Given the description of an element on the screen output the (x, y) to click on. 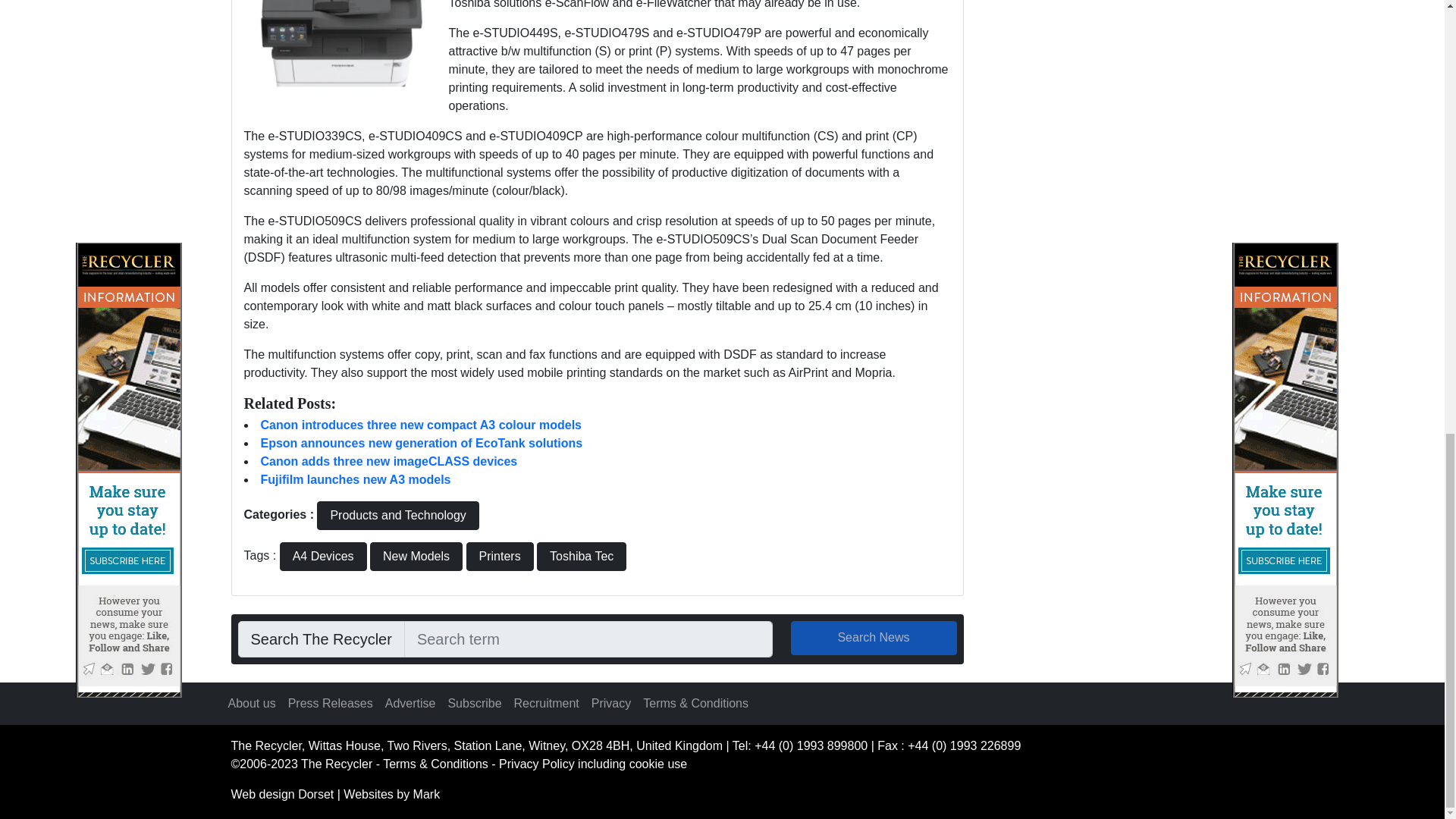
A4 Devices Tag (322, 556)
Printers (498, 556)
Canon introduces three new compact A3 colour models (420, 424)
Toshiba Tec (581, 556)
Search News (873, 637)
Canon adds three new imageCLASS devices (389, 461)
New Models (416, 556)
Fujifilm launches new A3 models (355, 479)
Epson announces new generation of EcoTank solutions (421, 442)
New Models Tag (416, 556)
A4 Devices (322, 556)
Epson announces new generation of EcoTank solutions (421, 442)
Search News (873, 637)
Search for: (588, 638)
Canon introduces three new compact A3 colour models (420, 424)
